Given the description of an element on the screen output the (x, y) to click on. 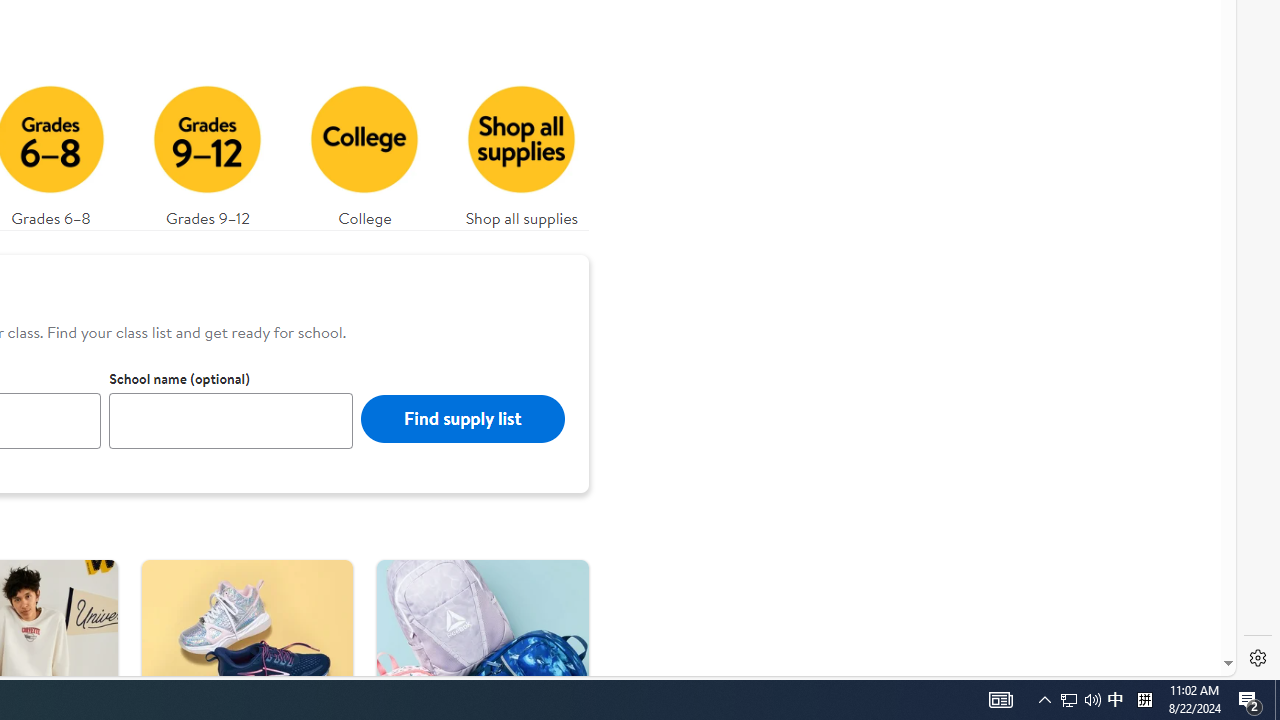
Shop all supplies (521, 150)
College (364, 150)
School name (optional) (231, 420)
Shop all supplies (521, 150)
Find supply list (462, 417)
College (365, 150)
